Given the description of an element on the screen output the (x, y) to click on. 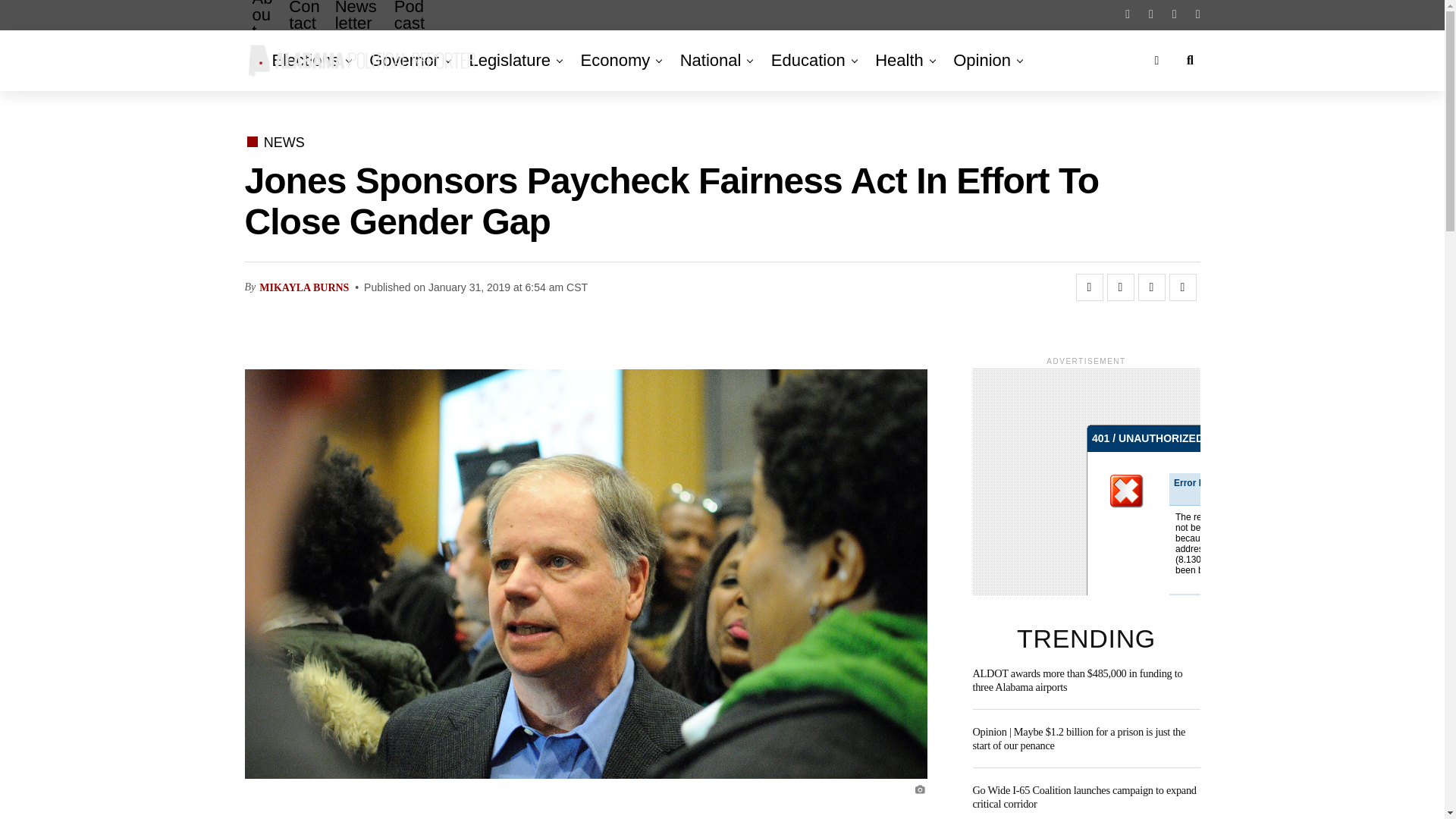
Elections (308, 60)
Share on Facebook (1088, 287)
Posts by Mikayla Burns (304, 287)
Newsletter (357, 27)
Tweet This Post (1120, 287)
Governor (403, 60)
Share on Flipboard (1150, 287)
